Given the description of an element on the screen output the (x, y) to click on. 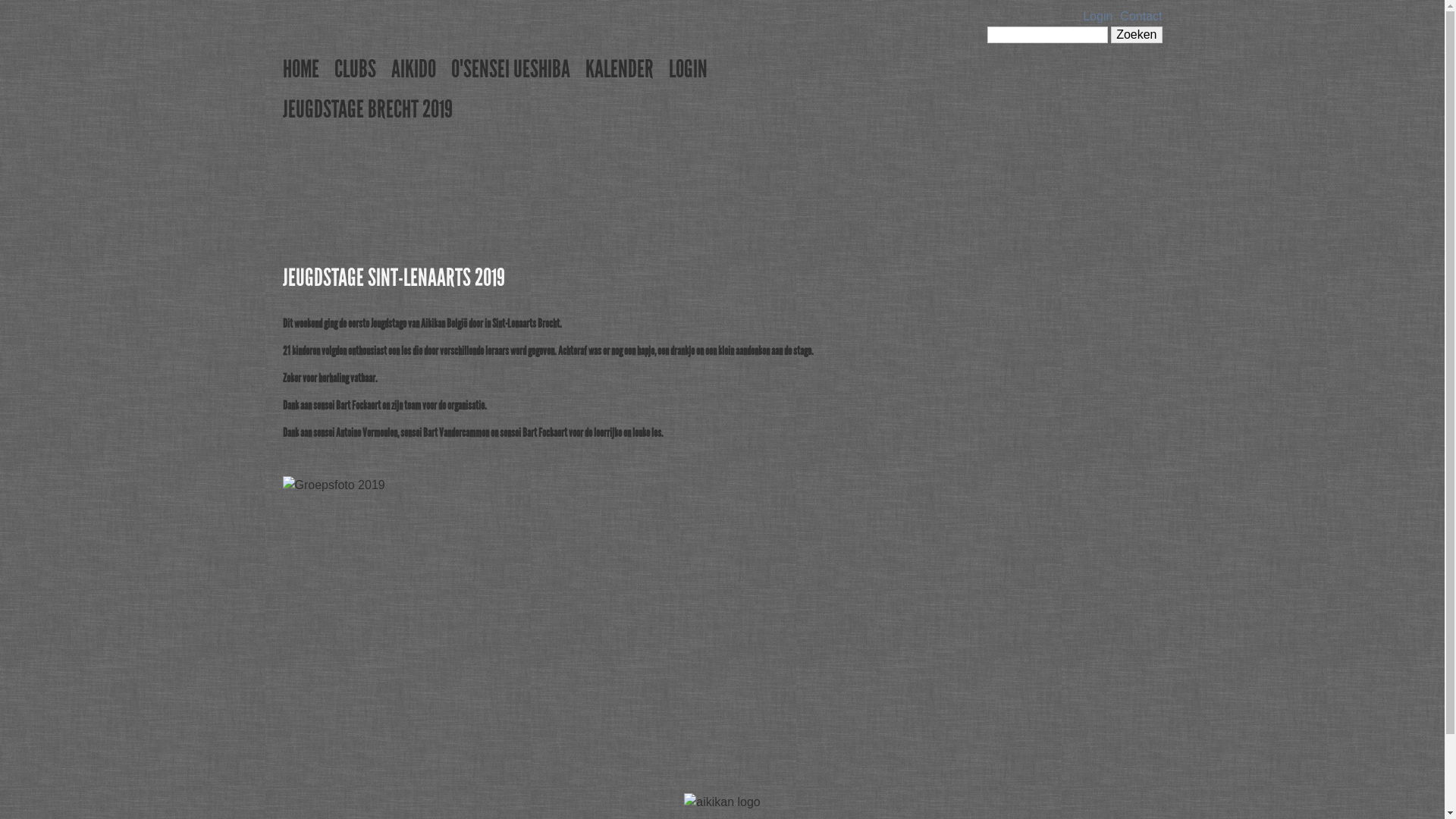
HOME Element type: text (300, 69)
Zoeken Element type: text (1135, 34)
Geef de woorden op waarnaar u wilt zoeken. Element type: hover (1047, 34)
AIKIDO Element type: text (413, 69)
Login Element type: text (1097, 15)
Jump to navigation Element type: text (722, 2)
O'SENSEI UESHIBA Element type: text (509, 69)
Contact Element type: text (1140, 15)
KALENDER Element type: text (619, 69)
CLUBS Element type: text (354, 69)
LOGIN Element type: text (687, 69)
